Given the description of an element on the screen output the (x, y) to click on. 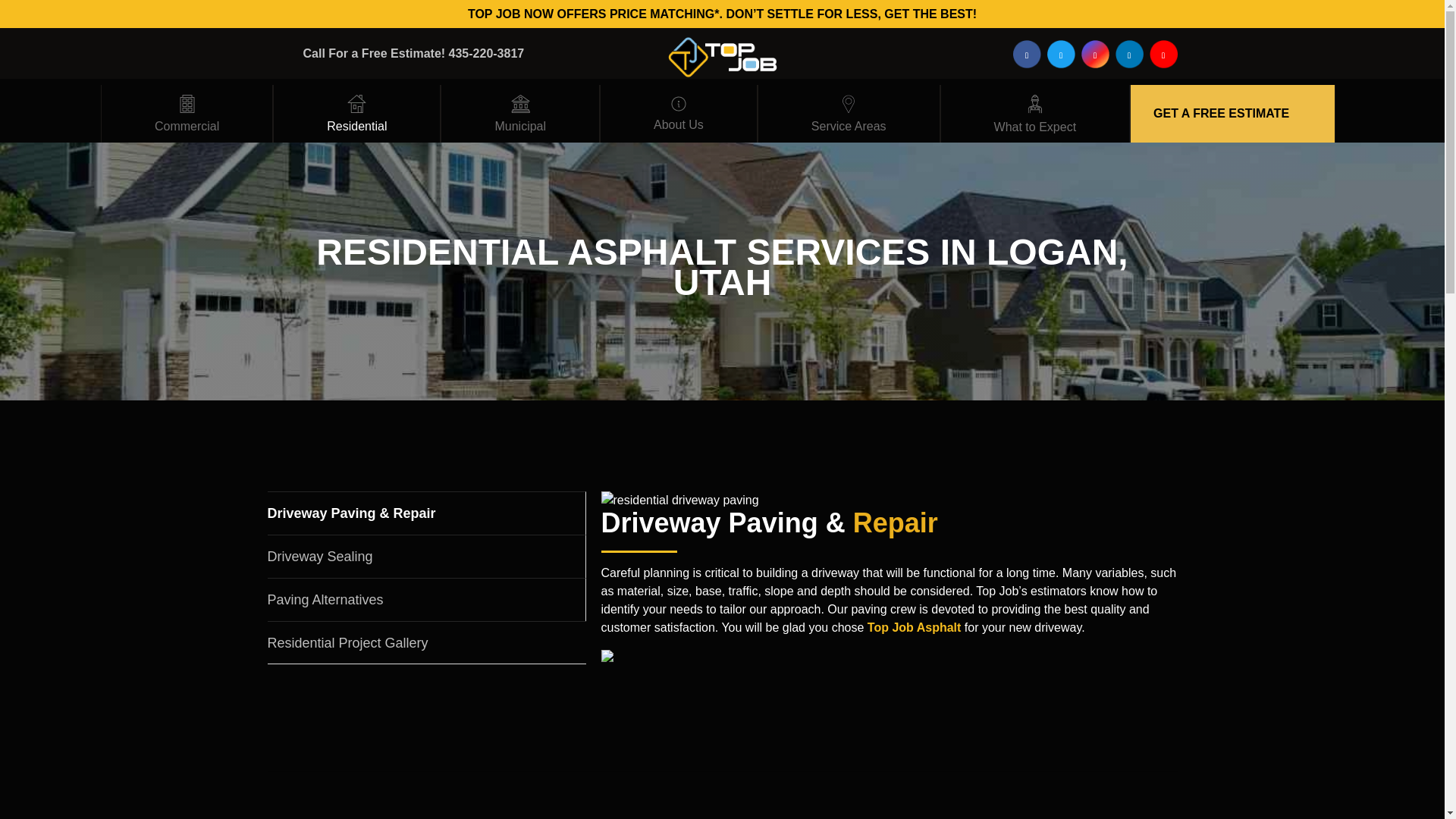
Paving Alternatives (425, 599)
GET A FREE ESTIMATE (1220, 113)
Municipal (520, 113)
Follow on Instagram (1095, 53)
Top Job Asphalt (913, 626)
Group 5 - Top Job Asphalt (520, 104)
Service Areas (848, 113)
Follow on LinkedIn (1128, 53)
Group 4 - Top Job Asphalt (356, 104)
Follow on Youtube (1163, 53)
